Given the description of an element on the screen output the (x, y) to click on. 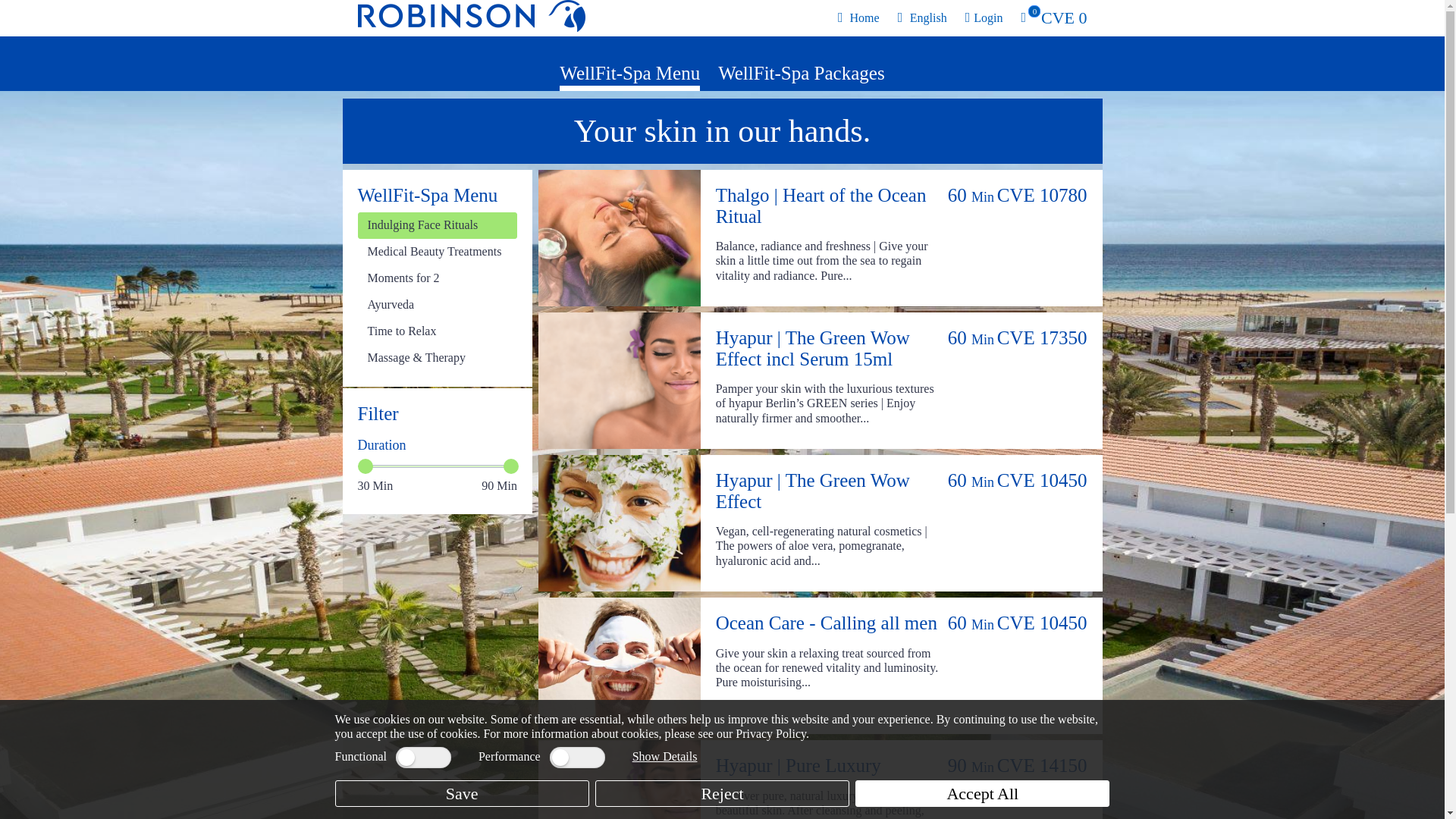
Ayurveda (438, 304)
Time to Relax (438, 331)
Show Details (1053, 18)
Indulging Face Rituals (664, 756)
Moments for 2 (438, 225)
Medical Beauty Treatments (438, 278)
Home (438, 252)
WellFit-Spa Packages (858, 18)
Login (800, 72)
WellFit-Spa Menu (984, 18)
